Given the description of an element on the screen output the (x, y) to click on. 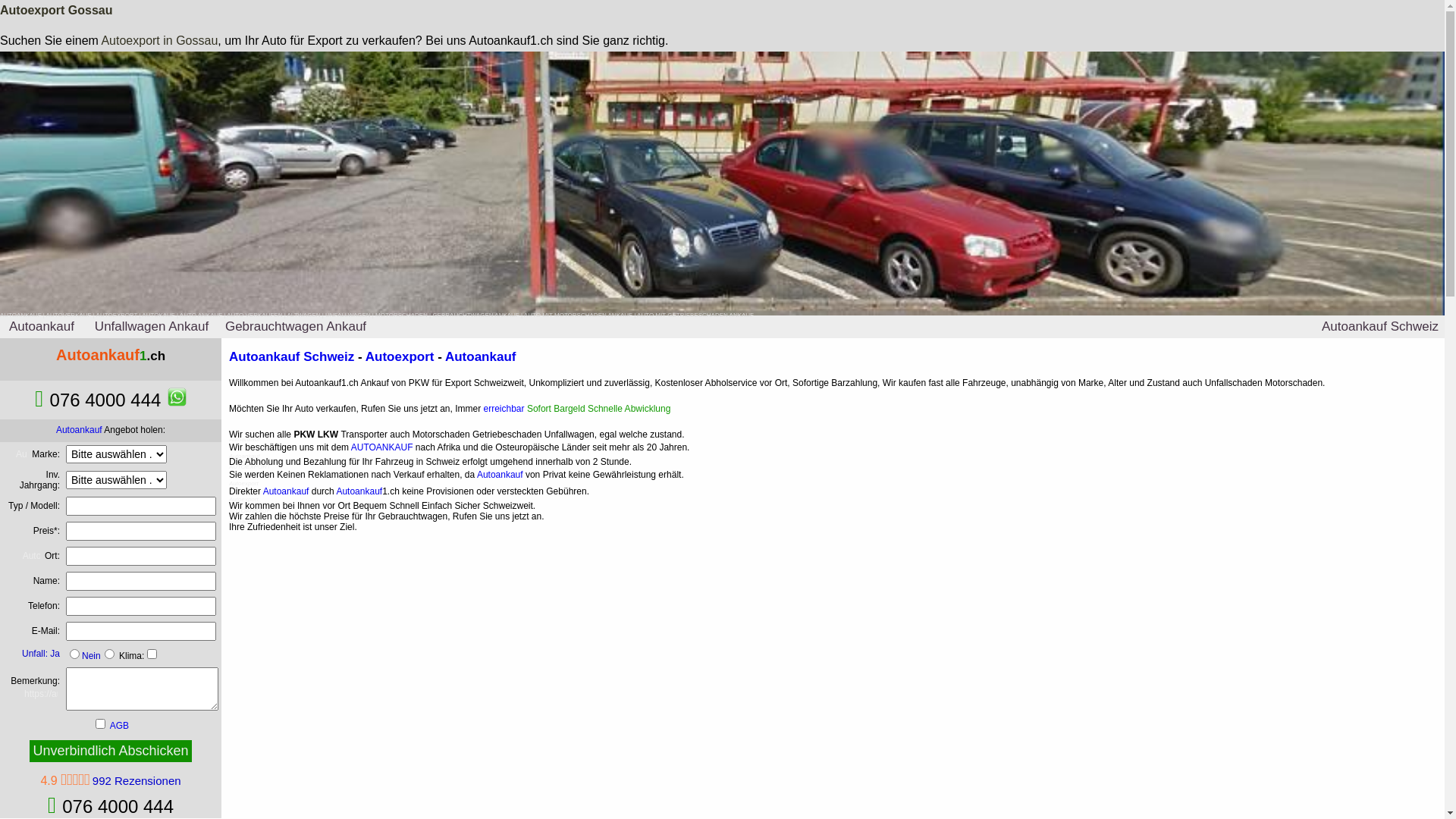
Autoexport Gossau Element type: text (56, 9)
Autoexport in Gossau Element type: text (158, 40)
